Given the description of an element on the screen output the (x, y) to click on. 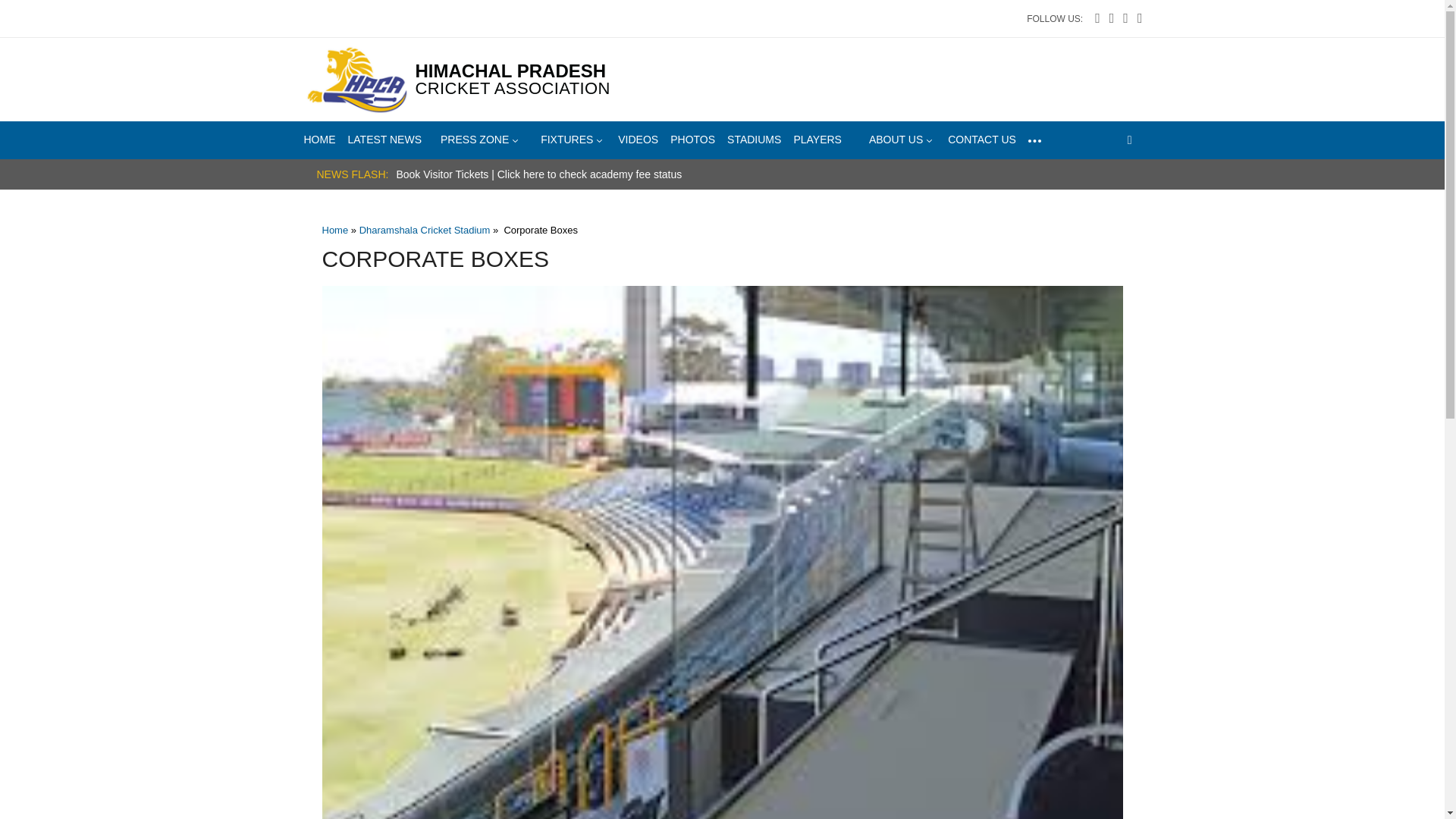
HOME (318, 139)
CONTACT US (982, 139)
GO (1133, 169)
PLAYERS (817, 139)
VIDEOS (637, 139)
STADIUMS (753, 139)
PHOTOS (691, 139)
LATEST NEWS (384, 139)
